Given the description of an element on the screen output the (x, y) to click on. 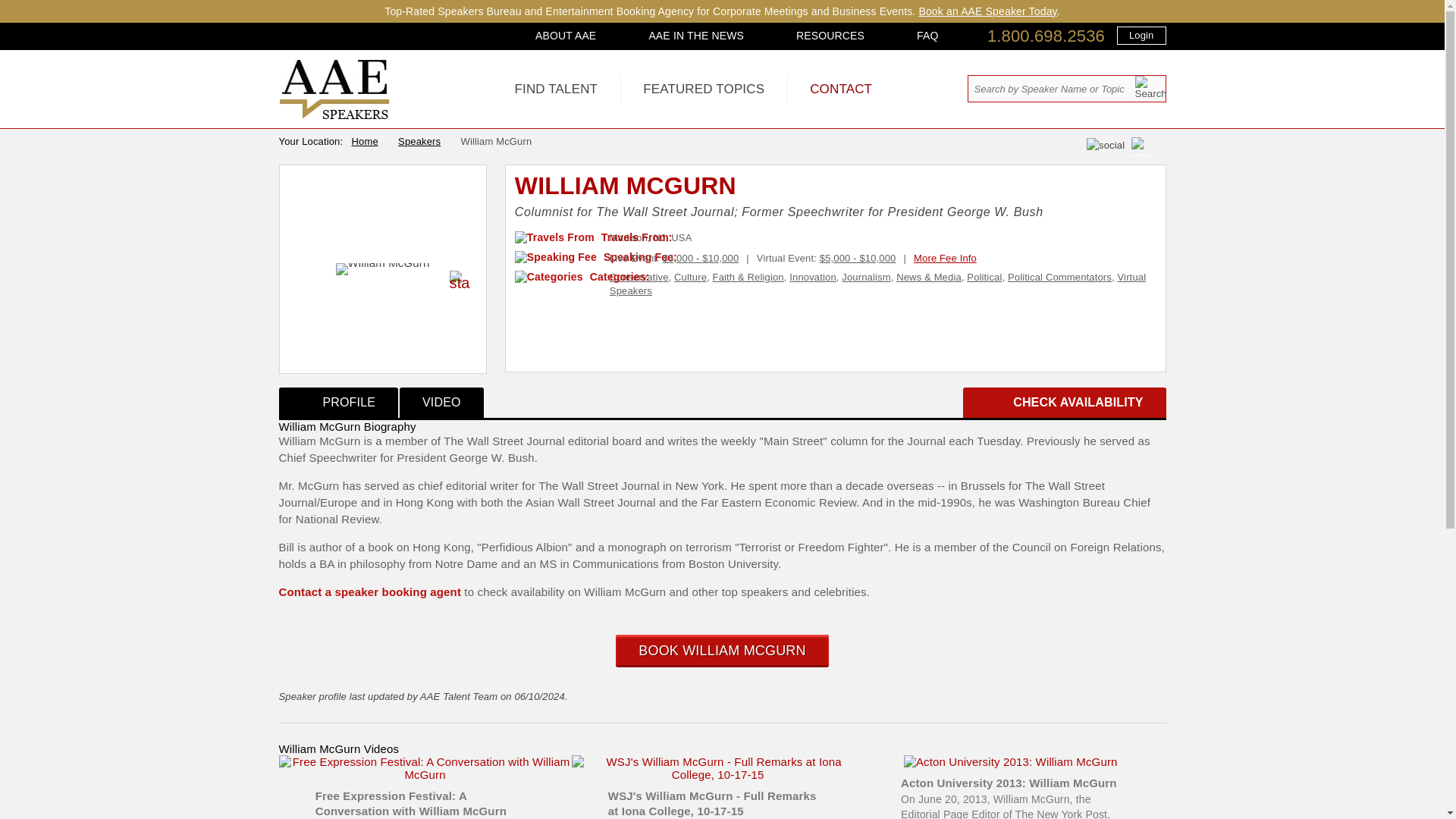
All American Speakers Bureau and Celebrity Booking Agency (334, 115)
AAE IN THE NEWS (695, 34)
Login (1141, 35)
ABOUT AAE (565, 34)
Book an AAE Speaker Today (987, 10)
FAQ (927, 34)
RESOURCES (829, 34)
1.800.698.2536 (1046, 35)
Search (1150, 87)
